Given the description of an element on the screen output the (x, y) to click on. 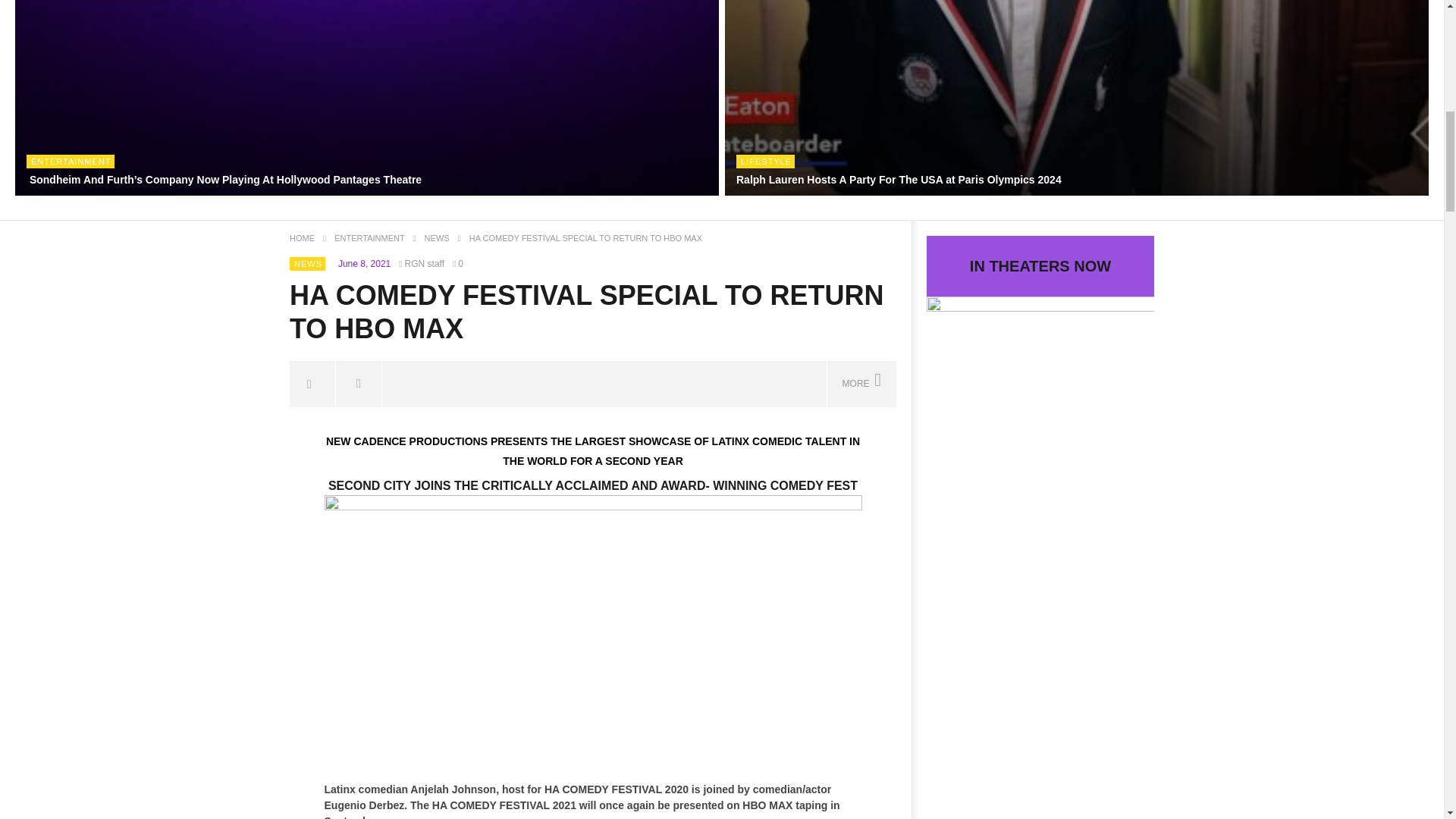
ENTERTAINMENT (71, 161)
View all posts in Entertainment (71, 161)
LIFESTYLE (766, 161)
